Given the description of an element on the screen output the (x, y) to click on. 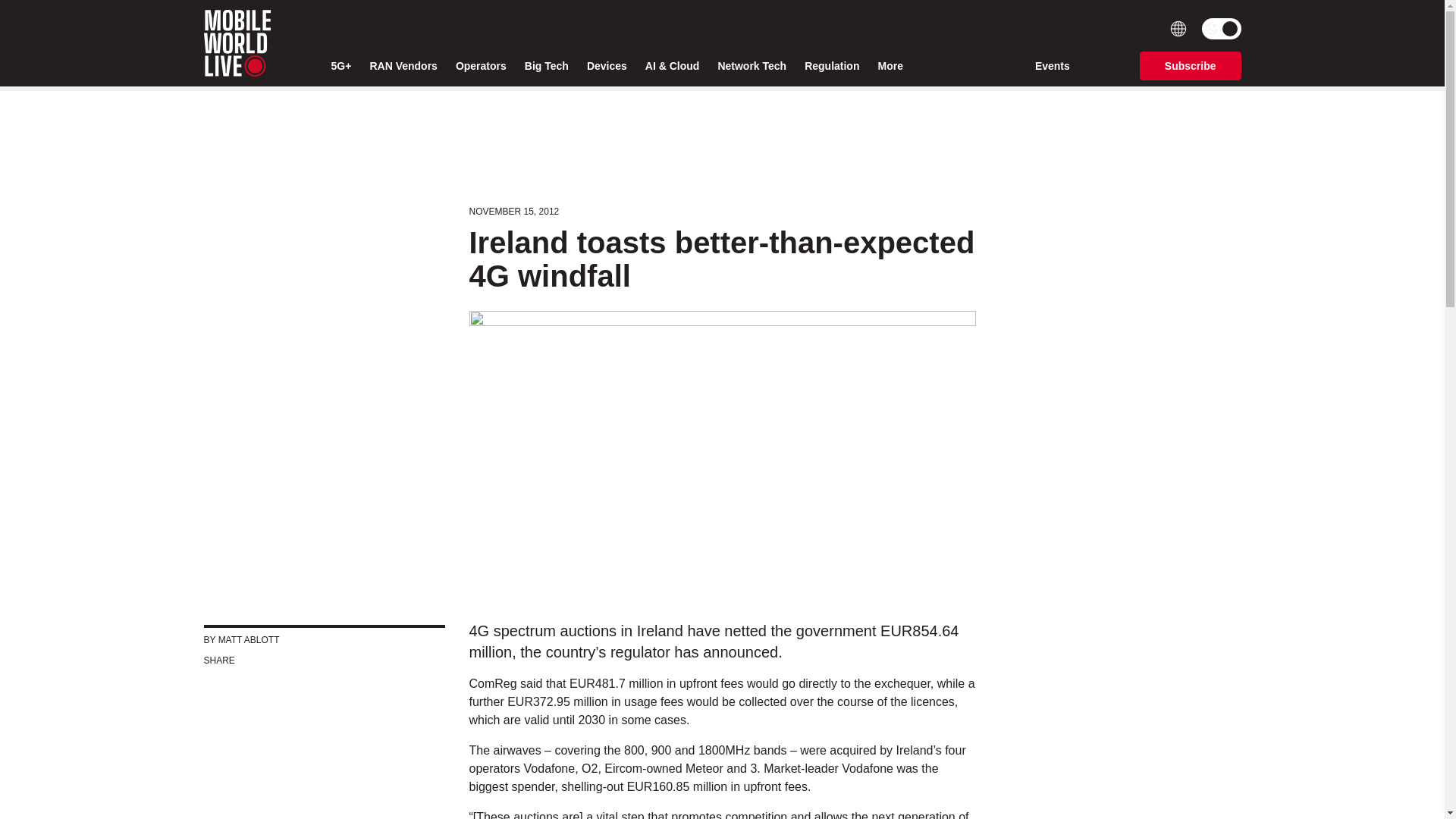
Regulation (832, 65)
Devices (606, 65)
Events (1052, 65)
Subscribe (1190, 65)
RAN Vendors (402, 65)
Operators (480, 65)
Big Tech (546, 65)
Network Tech (751, 65)
